Given the description of an element on the screen output the (x, y) to click on. 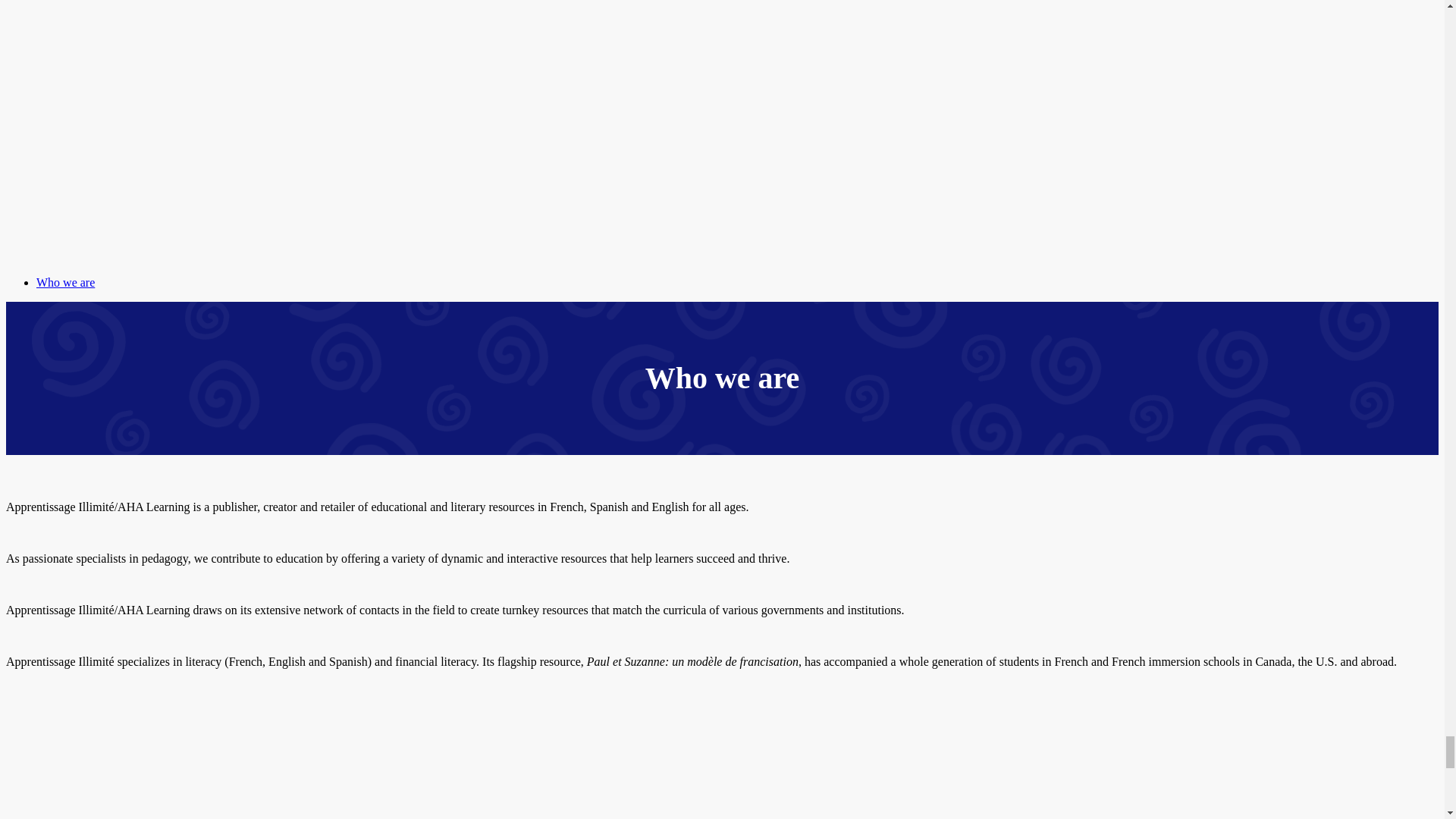
YouTube video player (217, 762)
